Given the description of an element on the screen output the (x, y) to click on. 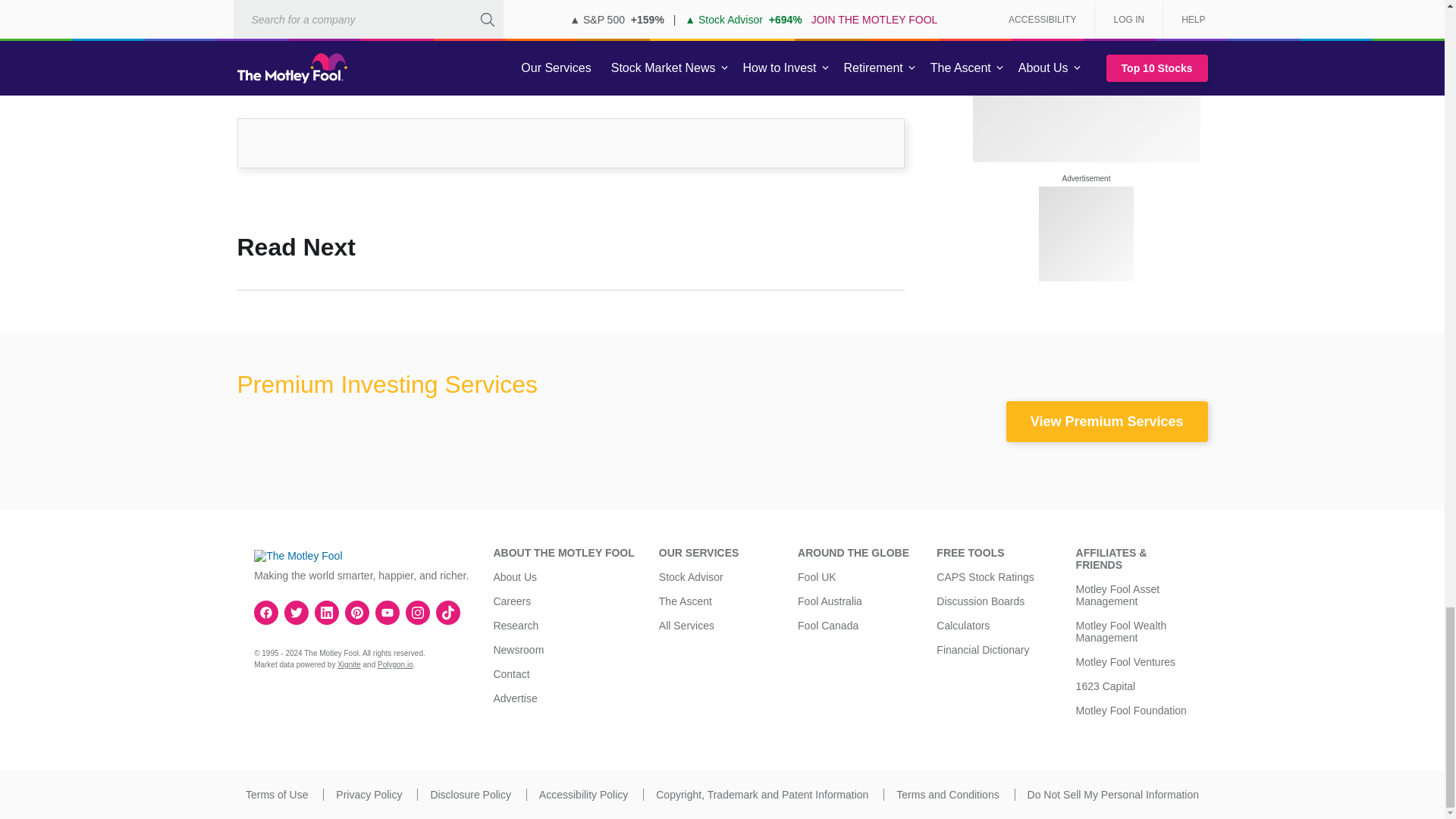
Privacy Policy (368, 794)
Terms of Use (276, 794)
Disclosure Policy (470, 794)
Do Not Sell My Personal Information. (1112, 794)
Copyright, Trademark and Patent Information (761, 794)
Accessibility Policy (582, 794)
Terms and Conditions (947, 794)
